Given the description of an element on the screen output the (x, y) to click on. 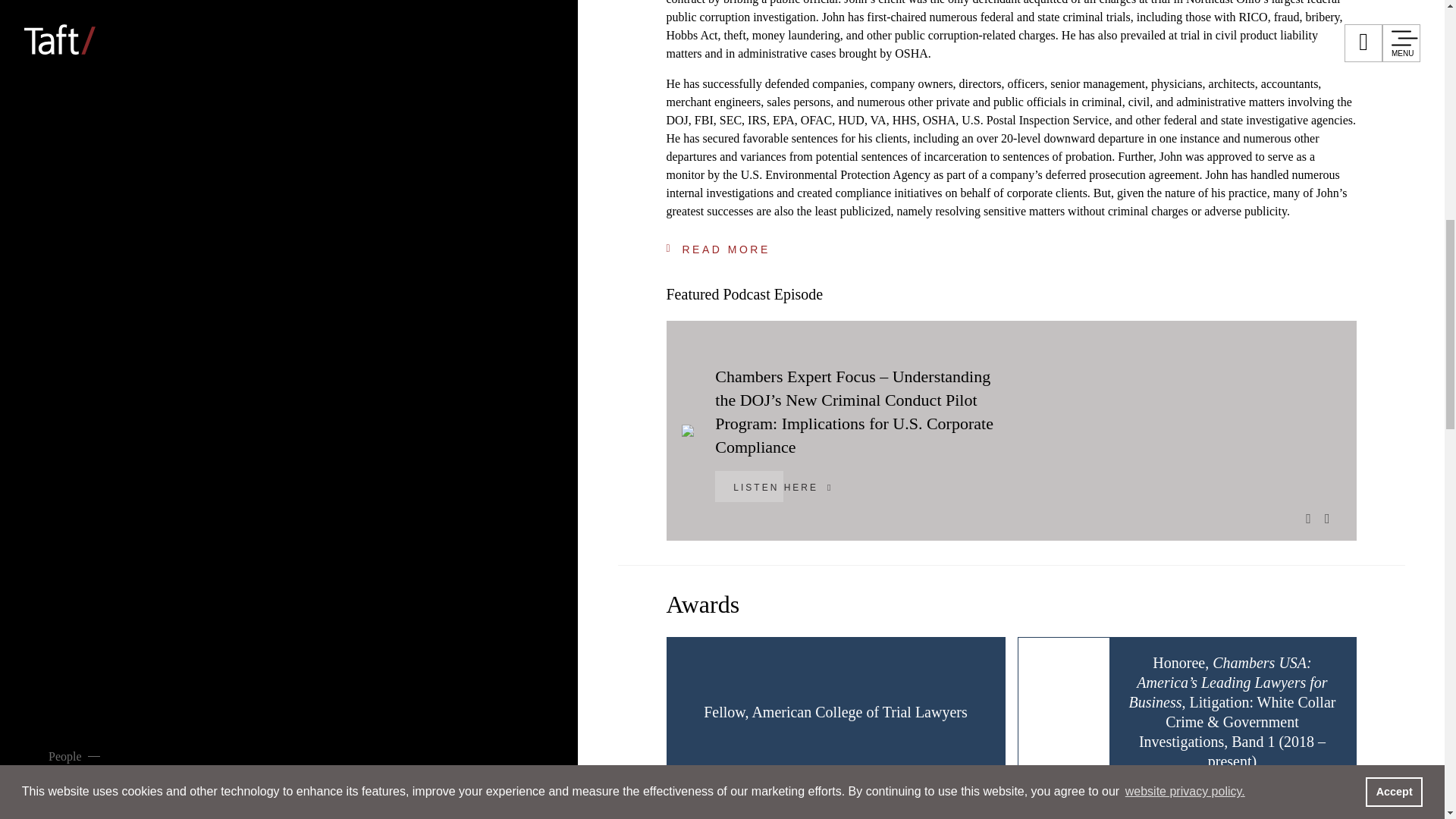
Services (144, 265)
People (129, 176)
People (74, 756)
Careers (136, 535)
Contact Us (836, 610)
About (124, 624)
Terms and Conditions (1114, 610)
Privacy (1002, 610)
Subscribe (925, 610)
Payments (861, 636)
Affiliates (753, 610)
Accessibility (1242, 610)
